Given the description of an element on the screen output the (x, y) to click on. 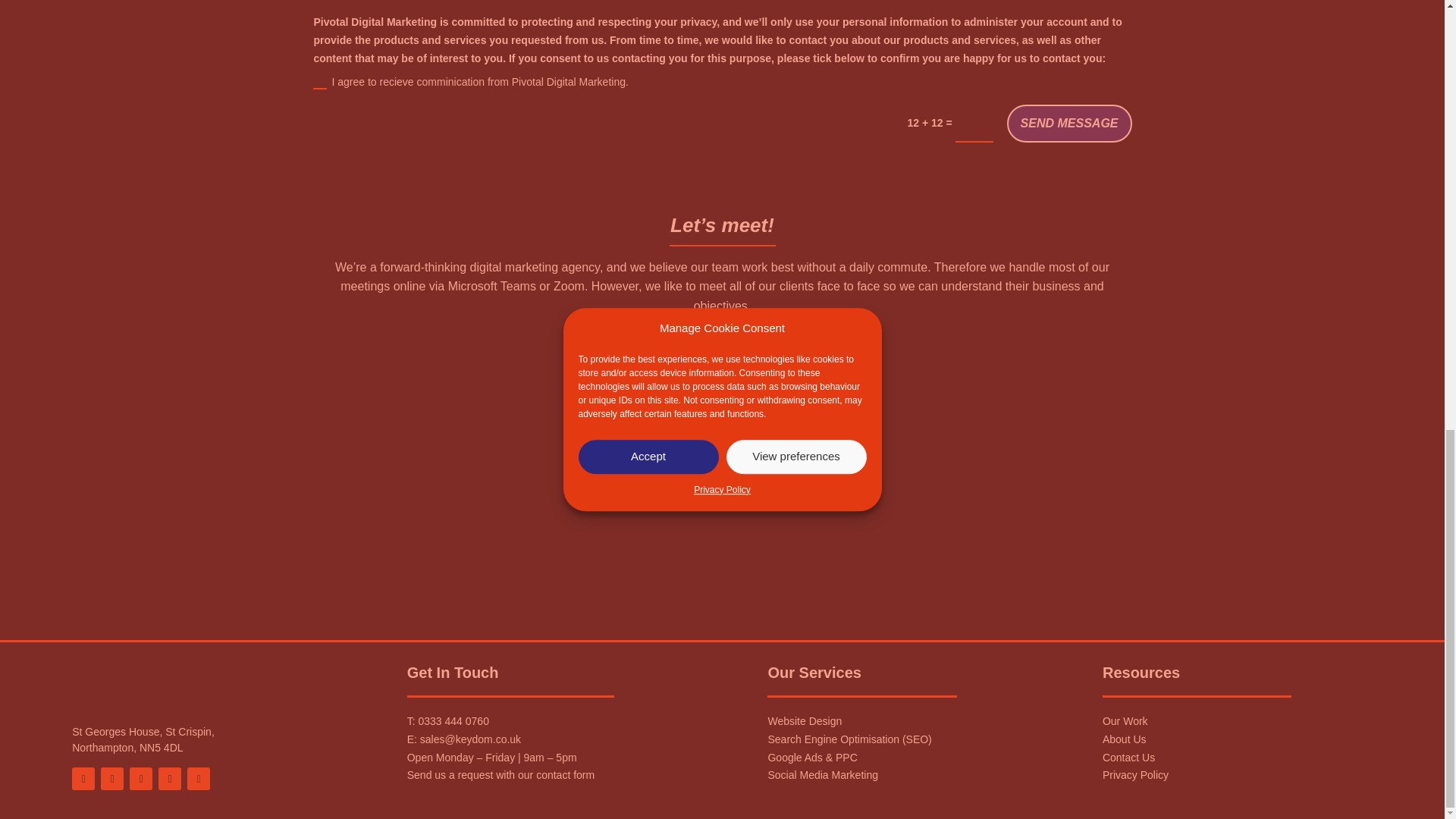
Follow on TikTok (169, 778)
Follow on Instagram (111, 778)
Follow on LinkedIn (198, 778)
T: 0333 444 0760 (448, 720)
Follow on Twitter (140, 778)
Follow on Facebook (82, 778)
SEND MESSAGE (1069, 123)
